Given the description of an element on the screen output the (x, y) to click on. 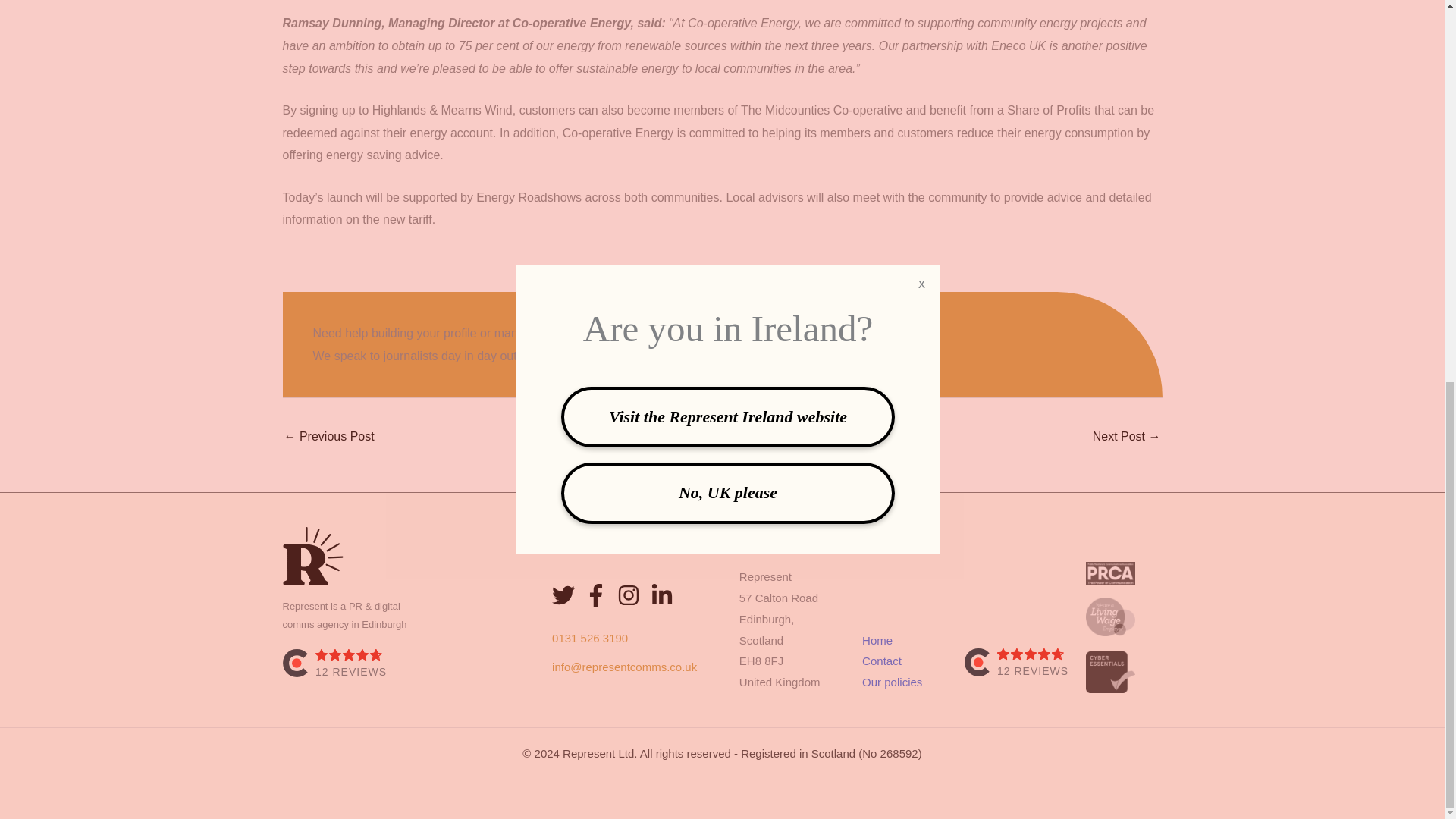
Represent Clutch Review Widget 1 (1016, 667)
Represent Clutch Review Widget 1 (409, 668)
New bar line up unveiled for 2016 Royal Highland Show (1126, 438)
Ground Breaking Commences at tHe Haymarket Edinburgh (328, 438)
